Given the description of an element on the screen output the (x, y) to click on. 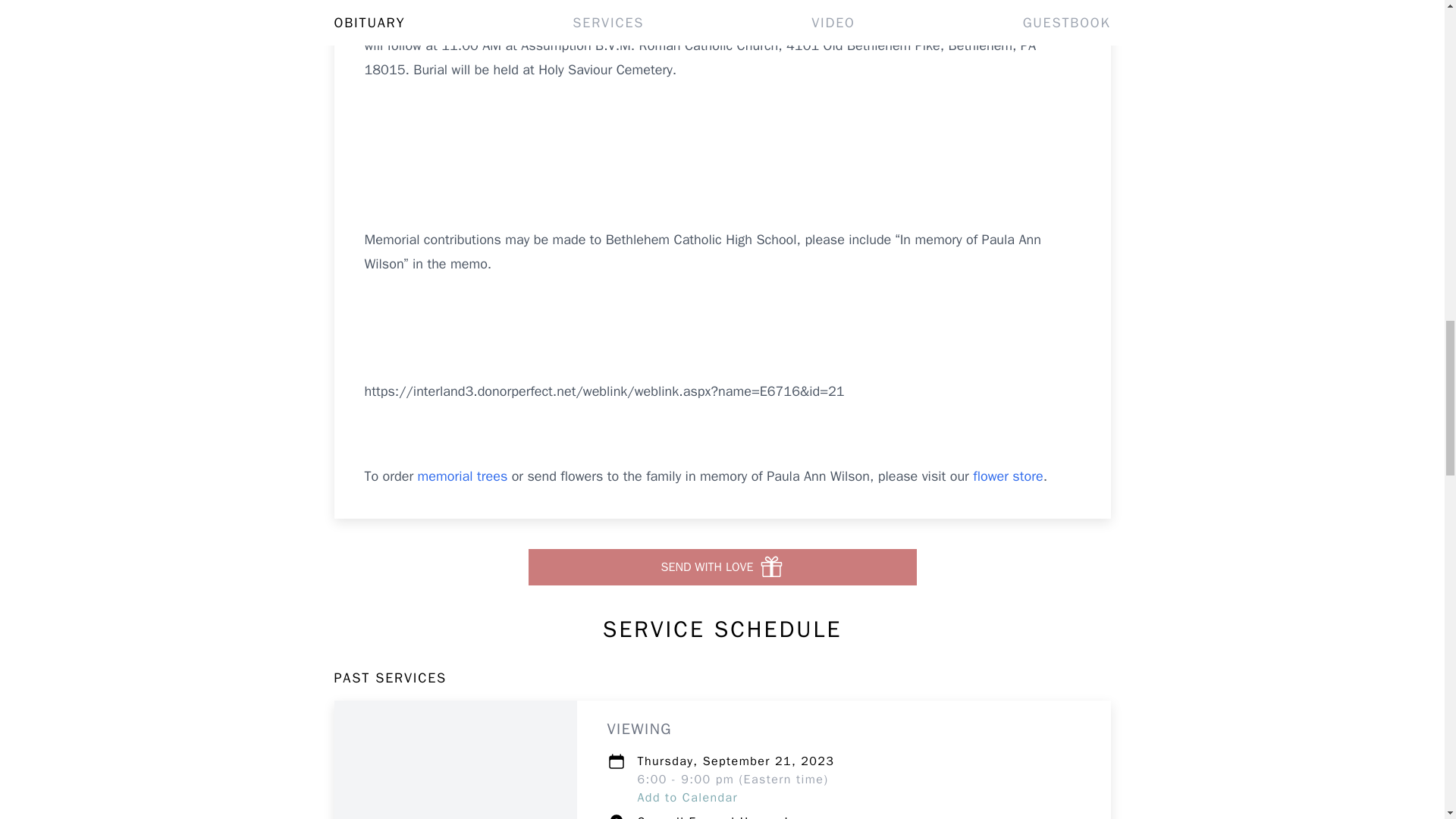
Add to Calendar (687, 797)
flower store (1007, 475)
memorial trees (462, 475)
SEND WITH LOVE (721, 566)
